Given the description of an element on the screen output the (x, y) to click on. 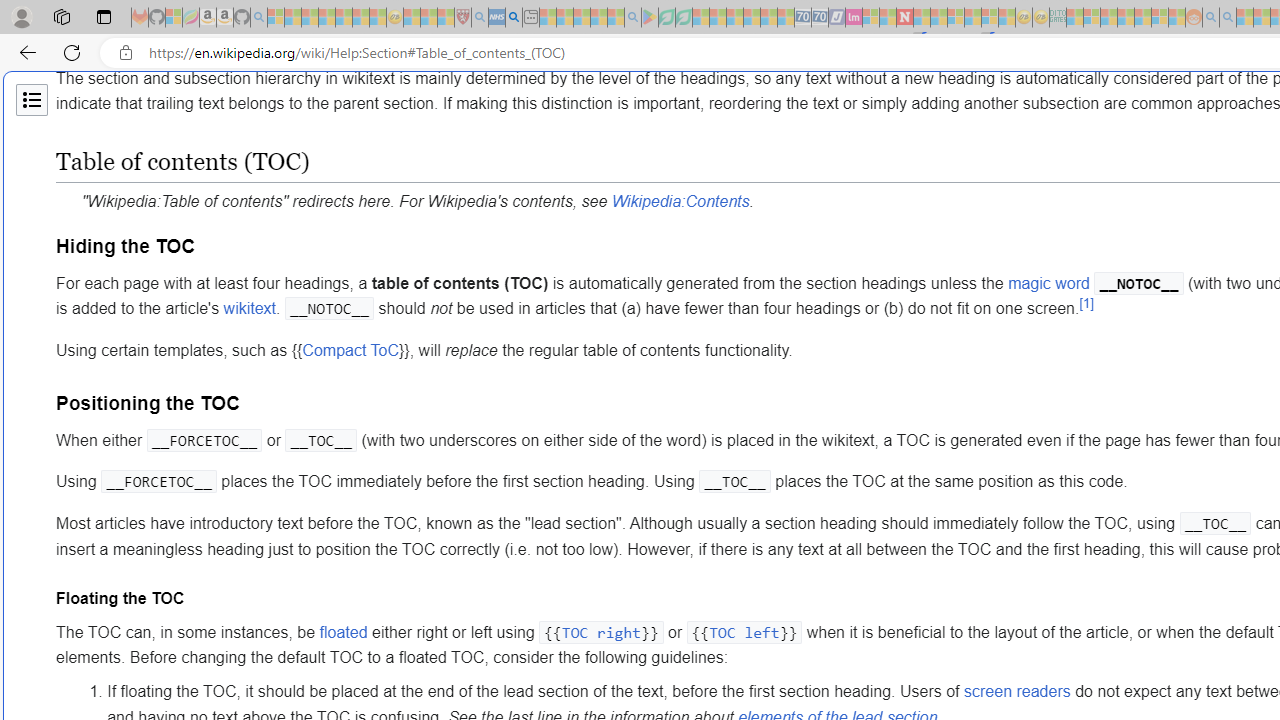
Utah sues federal government - Search - Sleeping (1227, 17)
utah sues federal government - Search (513, 17)
TOC left (744, 632)
[1] (1086, 303)
